Given the description of an element on the screen output the (x, y) to click on. 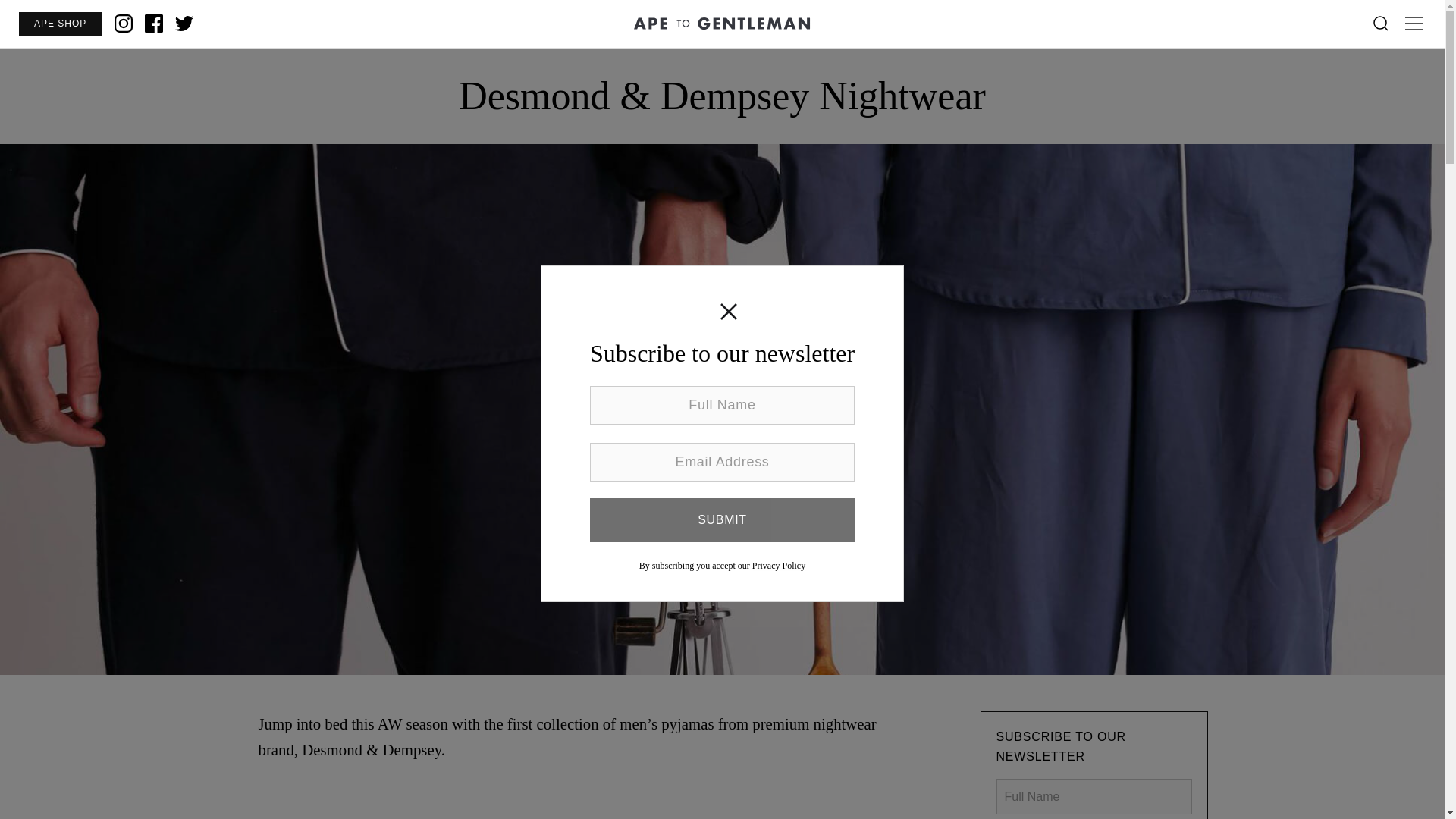
APE SHOP (59, 23)
Search (1380, 23)
Visit Ape's Shop (59, 23)
Submit (721, 519)
Instagram (123, 23)
Facebook (153, 23)
Twitter (183, 23)
Submit (721, 519)
Privacy Policy (778, 565)
Menu (1414, 23)
